Given the description of an element on the screen output the (x, y) to click on. 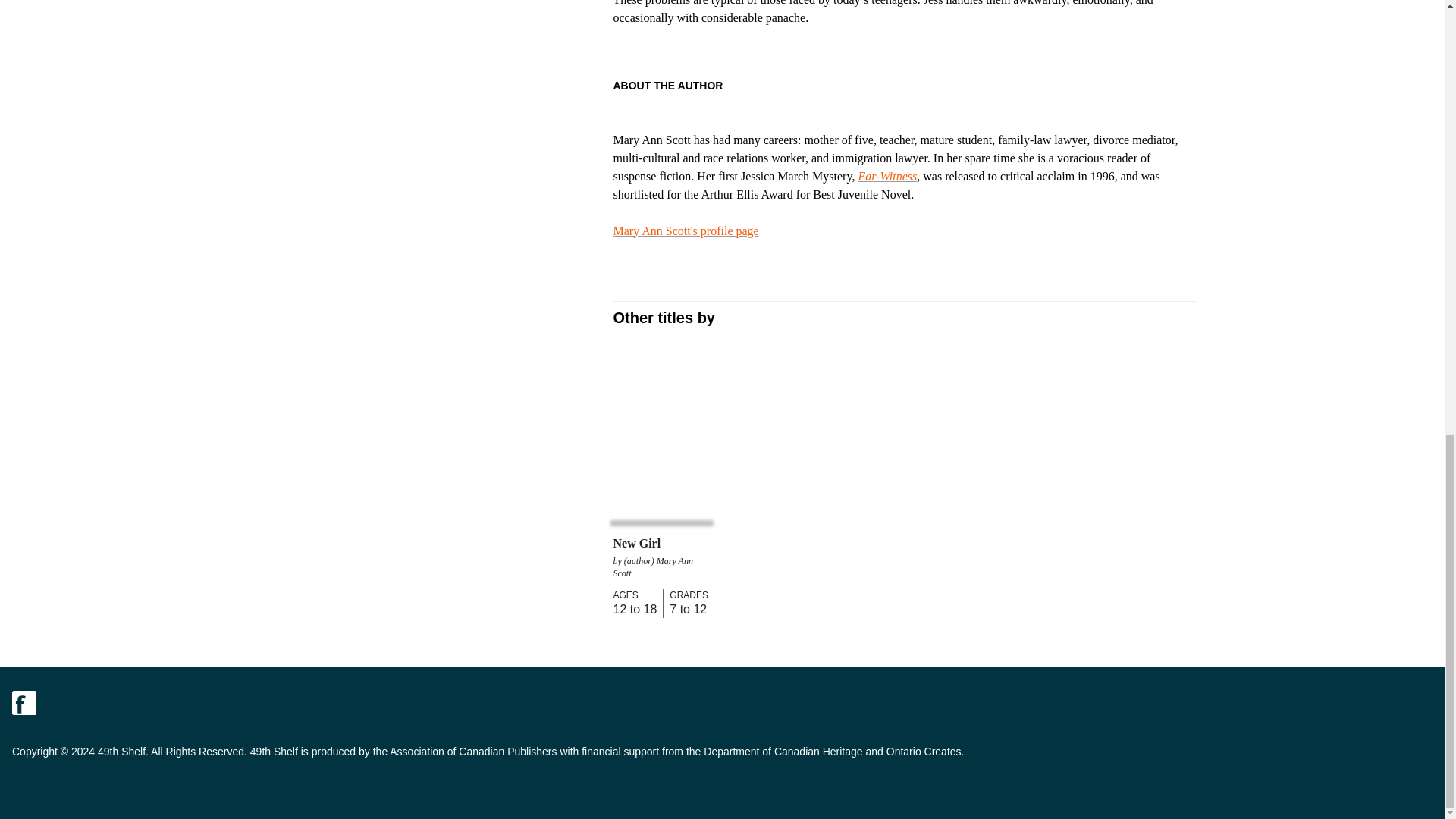
Ear-Witness (887, 175)
Visit us on Facebook (23, 702)
Mary Ann Scott's profile page (685, 230)
Recommended Ages (634, 594)
Visit us on Twitter (57, 702)
Recommended Grades (685, 594)
